Given the description of an element on the screen output the (x, y) to click on. 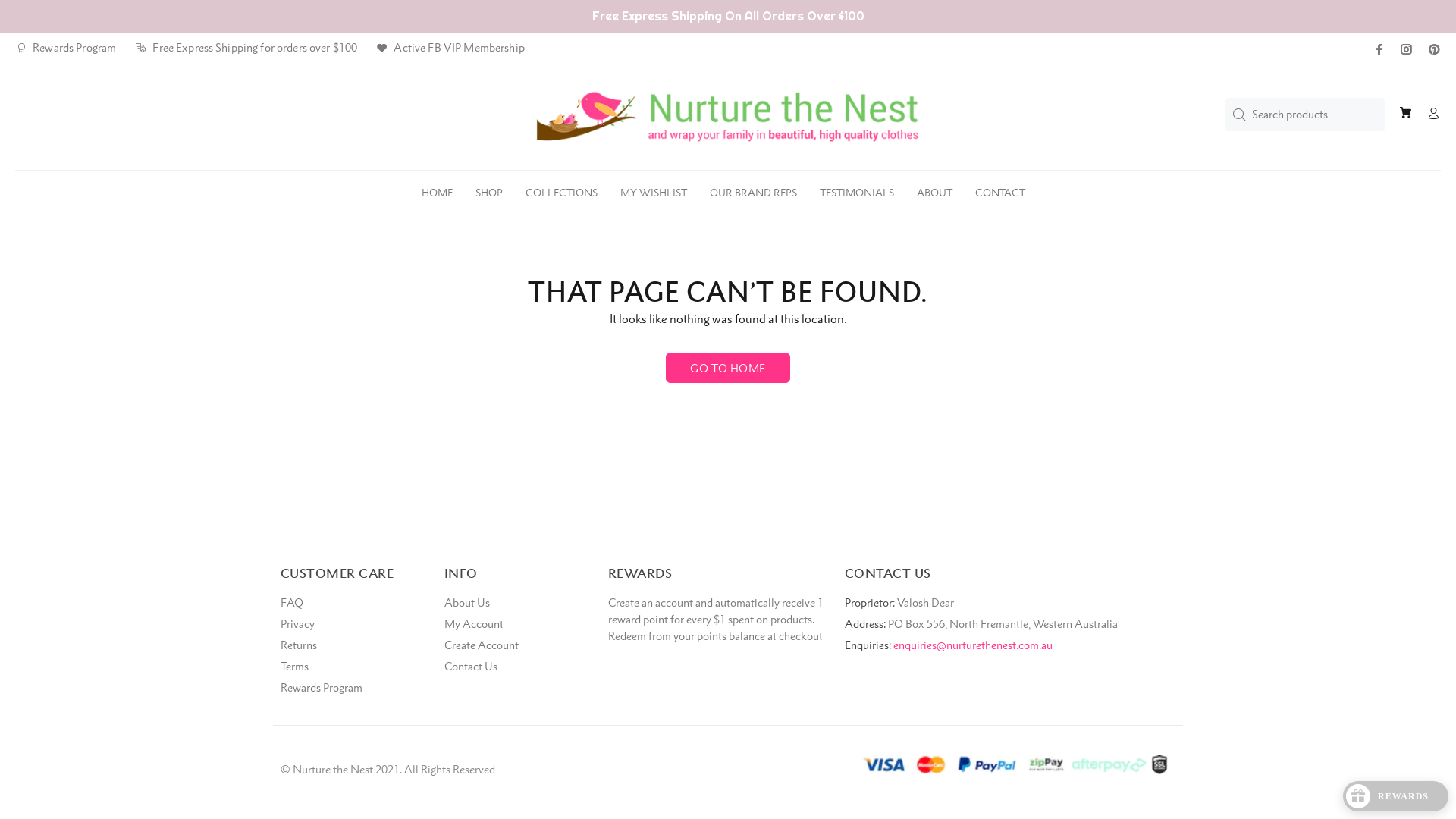
Active FB VIP Membership Element type: text (450, 47)
About Us Element type: text (466, 602)
GO TO HOME Element type: text (727, 367)
OUR BRAND REPS Element type: text (753, 188)
MY WISHLIST Element type: text (653, 188)
Contact Us Element type: text (470, 666)
FAQ Element type: text (291, 602)
Privacy Element type: text (297, 623)
Terms Element type: text (294, 666)
My Account Element type: text (473, 623)
enquiries@nurturethenest.com.au Element type: text (972, 644)
TESTIMONIALS Element type: text (856, 188)
Free Express Shipping for orders over $100 Element type: text (245, 47)
Rewards Program Element type: text (65, 47)
REWARDS Element type: text (1395, 796)
COLLECTIONS Element type: text (561, 188)
SHOP Element type: text (489, 188)
CONTACT Element type: text (999, 188)
ABOUT Element type: text (934, 188)
Returns Element type: text (298, 644)
HOME Element type: text (437, 188)
Rewards Program Element type: text (321, 687)
Create Account Element type: text (481, 644)
